Given the description of an element on the screen output the (x, y) to click on. 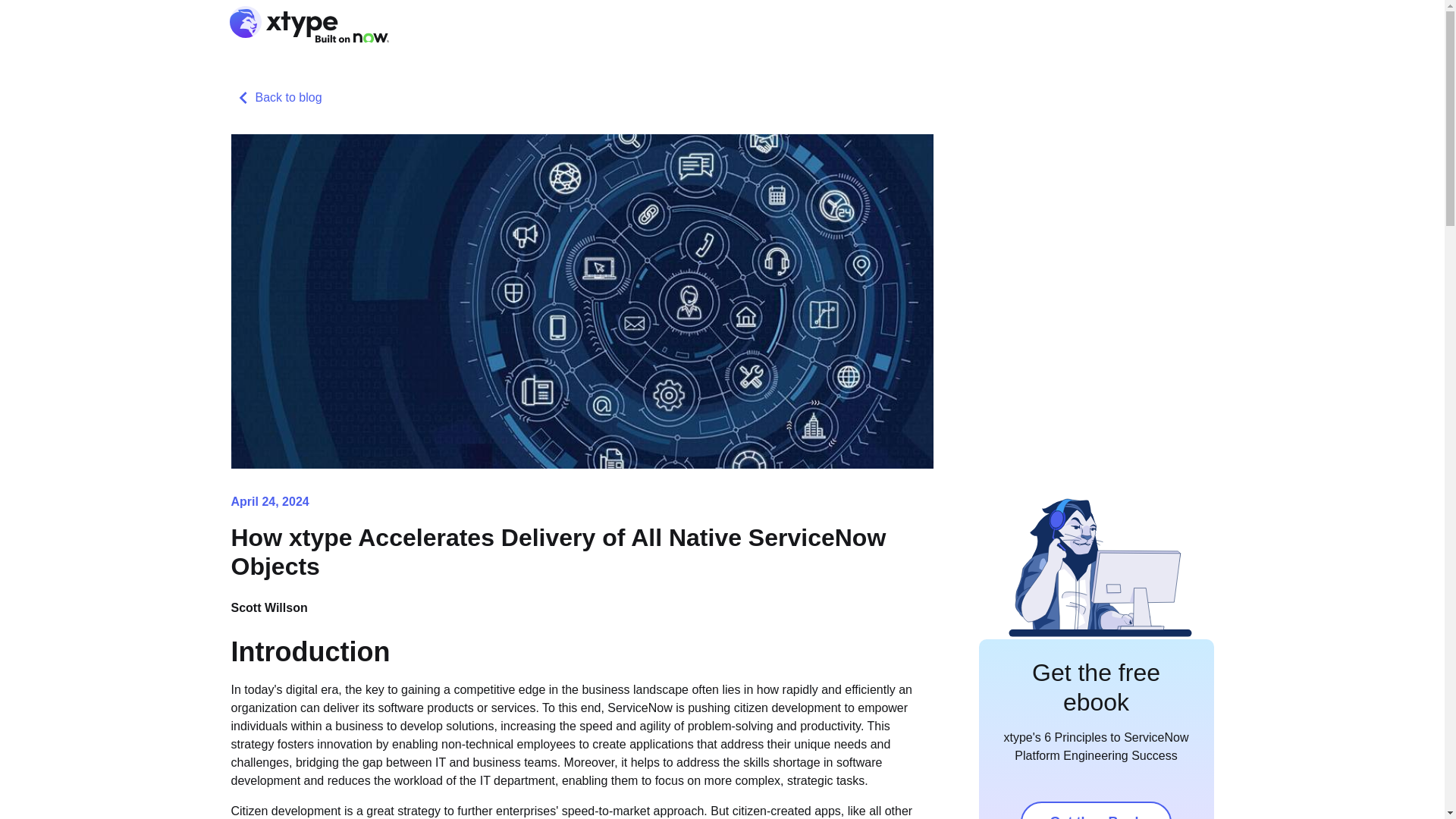
ROI (912, 24)
Learn (958, 24)
Book a Demo (1113, 24)
Blog (868, 24)
Back to blog (275, 97)
Get the eBook (1095, 810)
Partner (1186, 24)
